Given the description of an element on the screen output the (x, y) to click on. 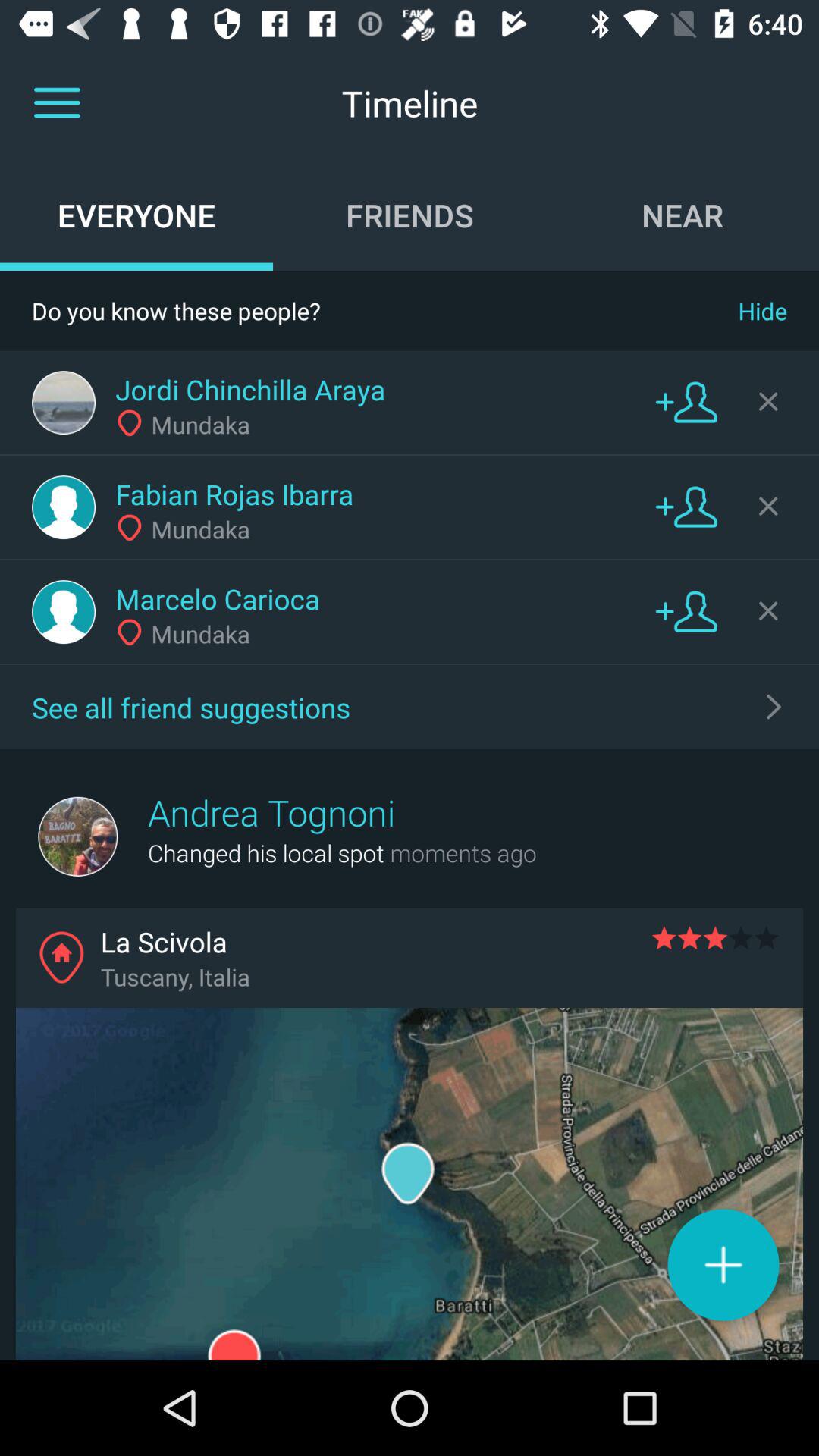
add person to friend list (686, 611)
